Given the description of an element on the screen output the (x, y) to click on. 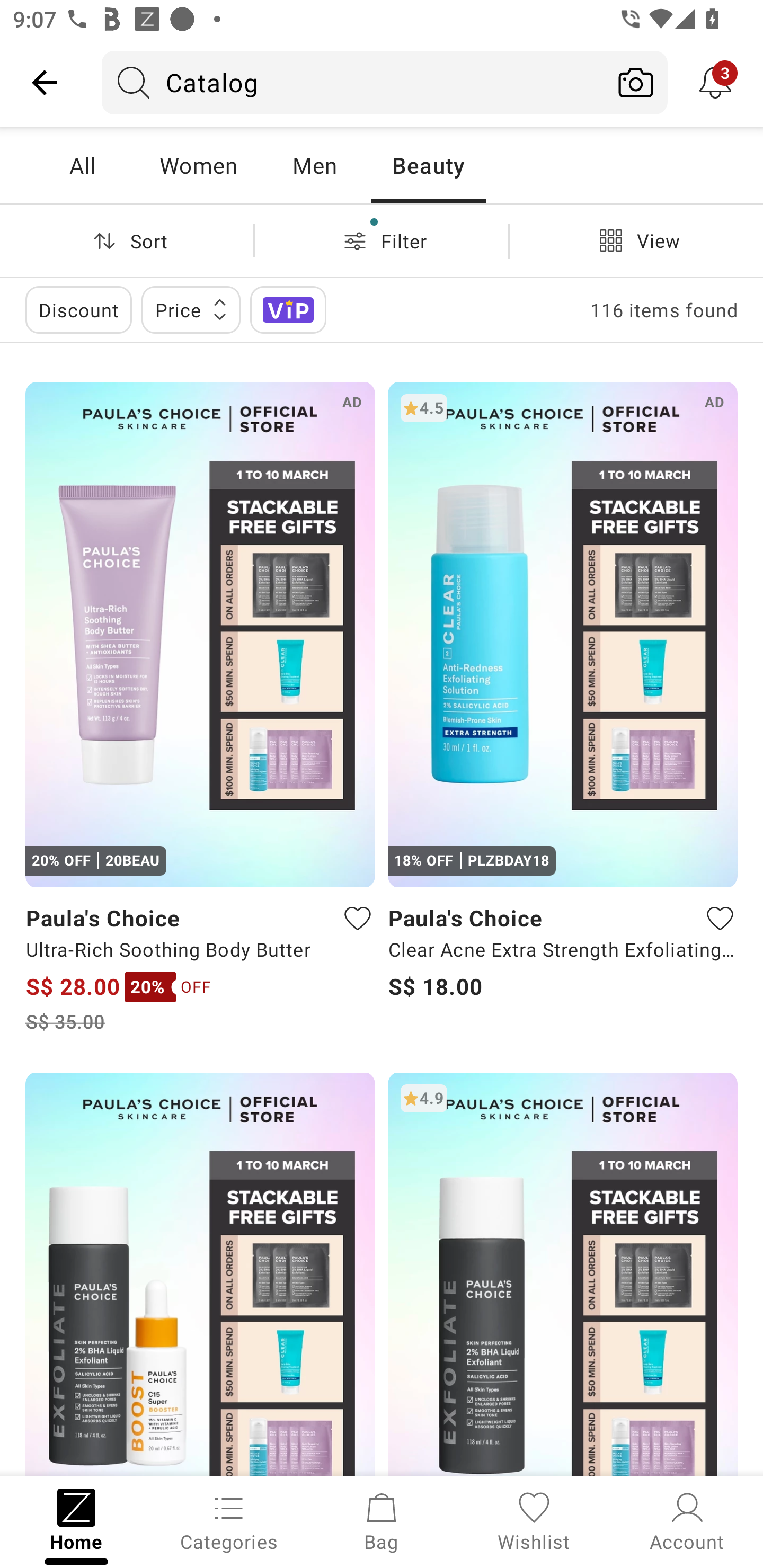
Navigate up (44, 82)
Catalog (352, 82)
All (82, 165)
Women (198, 165)
Men (314, 165)
Sort (126, 240)
Filter (381, 240)
View (636, 240)
Discount (78, 309)
Price (190, 309)
4.9 (562, 1272)
Categories (228, 1519)
Bag (381, 1519)
Wishlist (533, 1519)
Account (686, 1519)
